Given the description of an element on the screen output the (x, y) to click on. 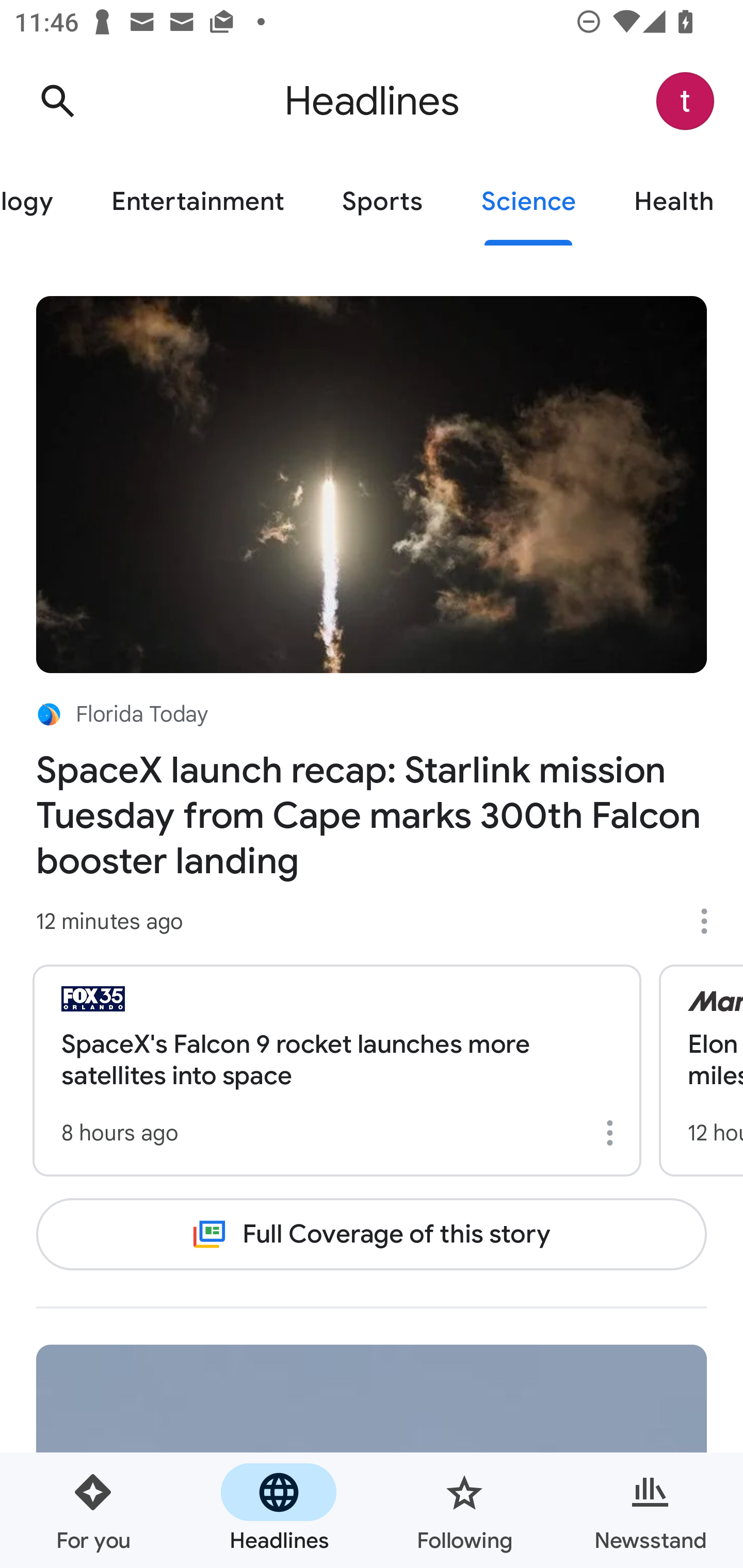
Search (57, 100)
Technology (40, 202)
Entertainment (197, 202)
Sports (382, 202)
Health (673, 202)
More options (711, 921)
More options (613, 1132)
Full Coverage of this story (371, 1233)
For you (92, 1509)
Headlines (278, 1509)
Following (464, 1509)
Newsstand (650, 1509)
